Given the description of an element on the screen output the (x, y) to click on. 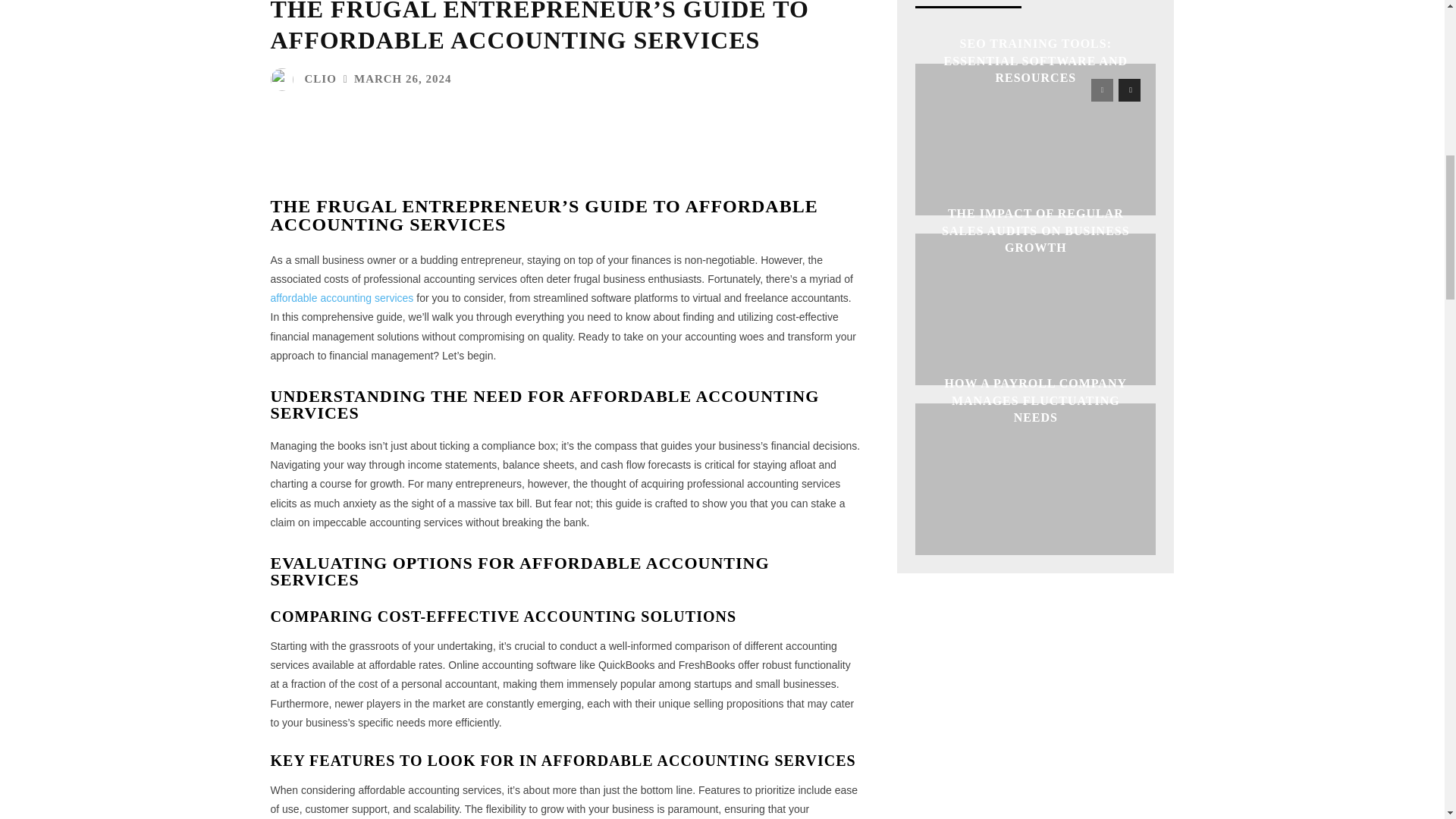
clio (284, 78)
